Given the description of an element on the screen output the (x, y) to click on. 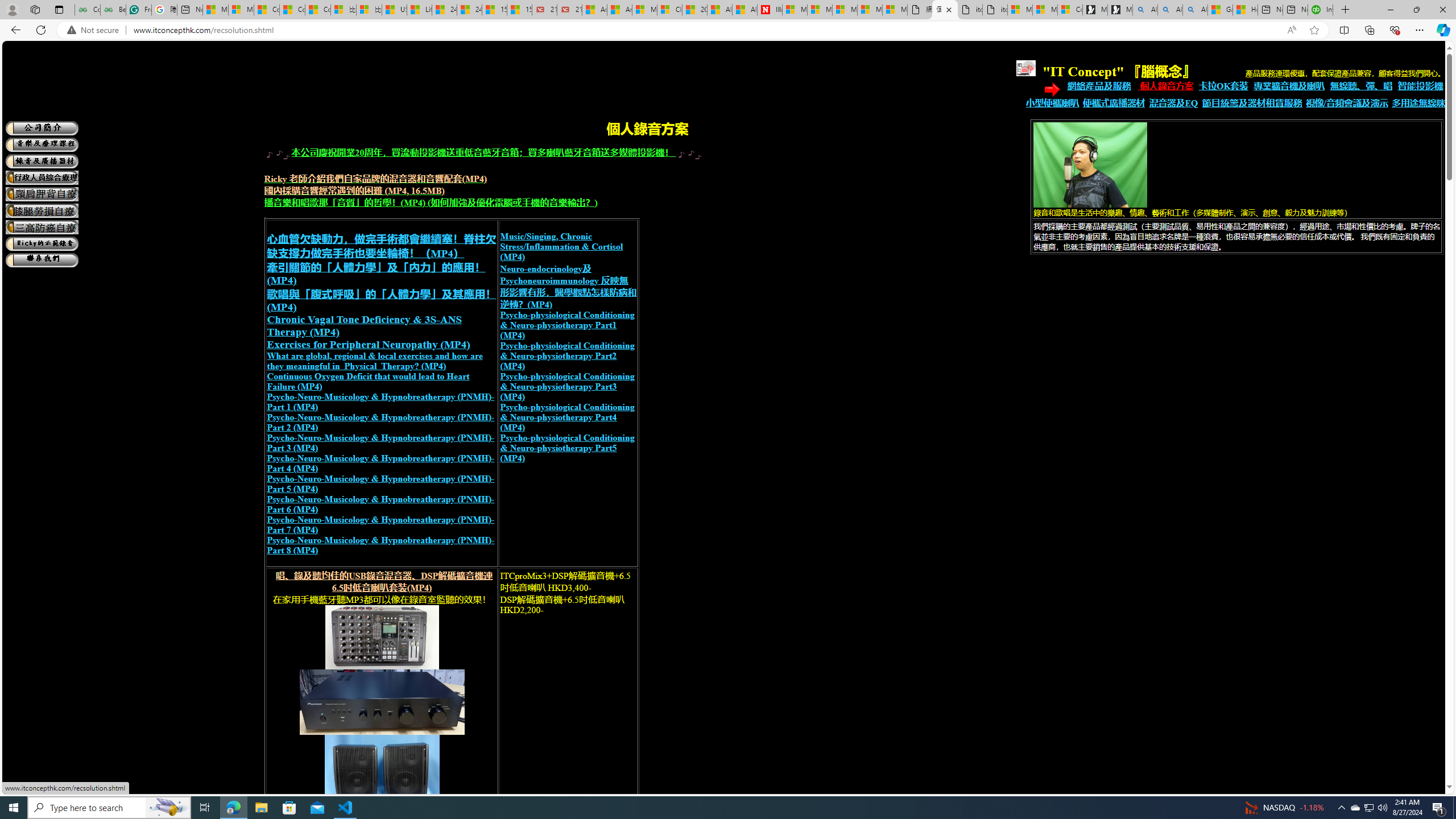
Alabama high school quarterback dies - Search Videos (1194, 9)
itconcepthk.com/projector_solutions.mp4 (993, 9)
USA TODAY - MSN (394, 9)
Free AI Writing Assistance for Students | Grammarly (137, 9)
